Given the description of an element on the screen output the (x, y) to click on. 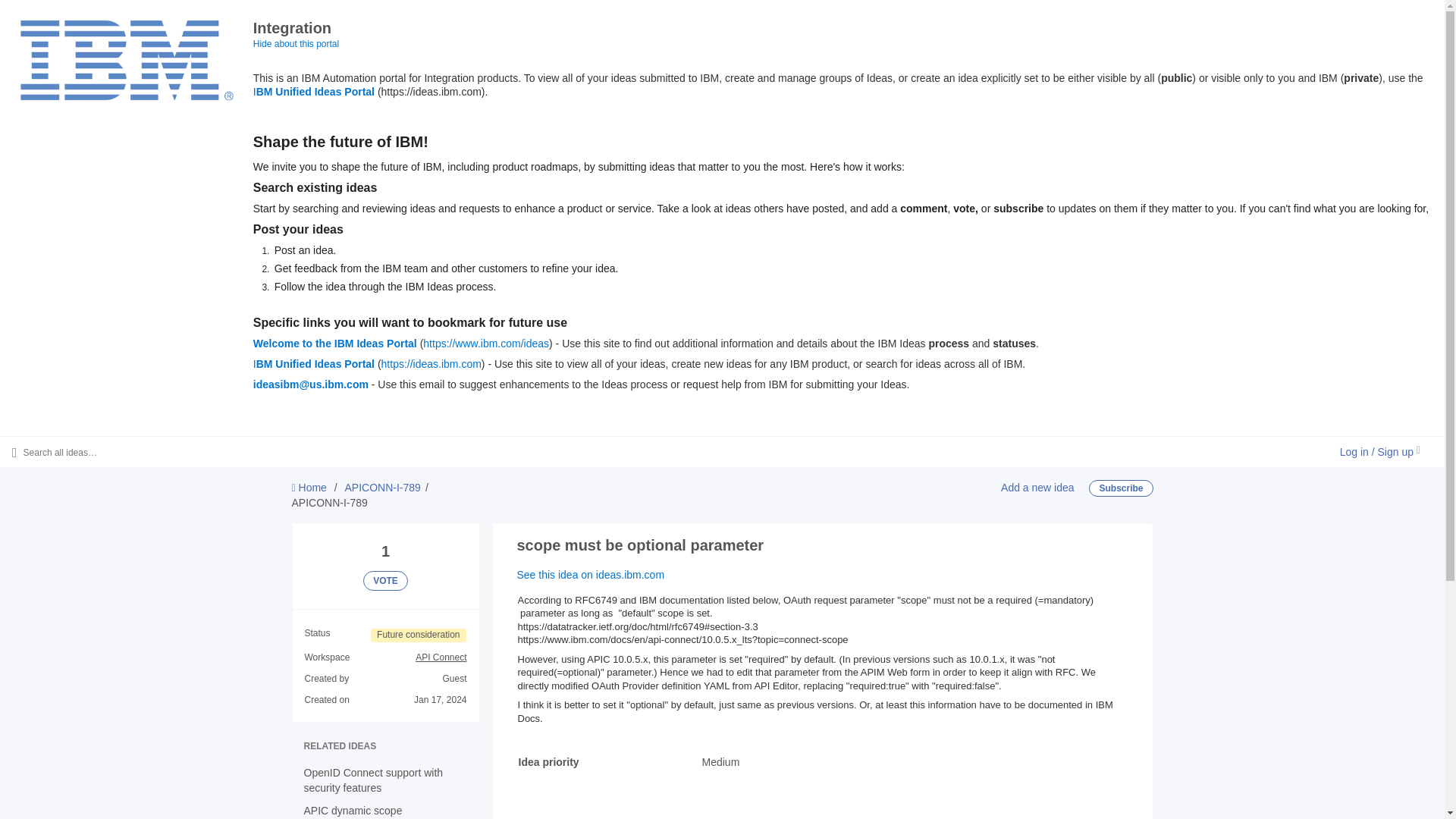
IBM Unified Ideas Portal (313, 91)
Future consideration (418, 635)
See this idea on ideas.ibm.com (590, 574)
APICONN-I-789 (382, 487)
APIC dynamic scope (351, 810)
API Connect (439, 657)
Add a new idea (1037, 487)
Welcome to the IBM Ideas Portal (334, 343)
Subscribe (1121, 487)
VOTE (385, 580)
IBM Unified Ideas Portal (567, 816)
Hide about this portal (313, 363)
Home (296, 43)
OpenID Connect support with security features (310, 487)
